Given the description of an element on the screen output the (x, y) to click on. 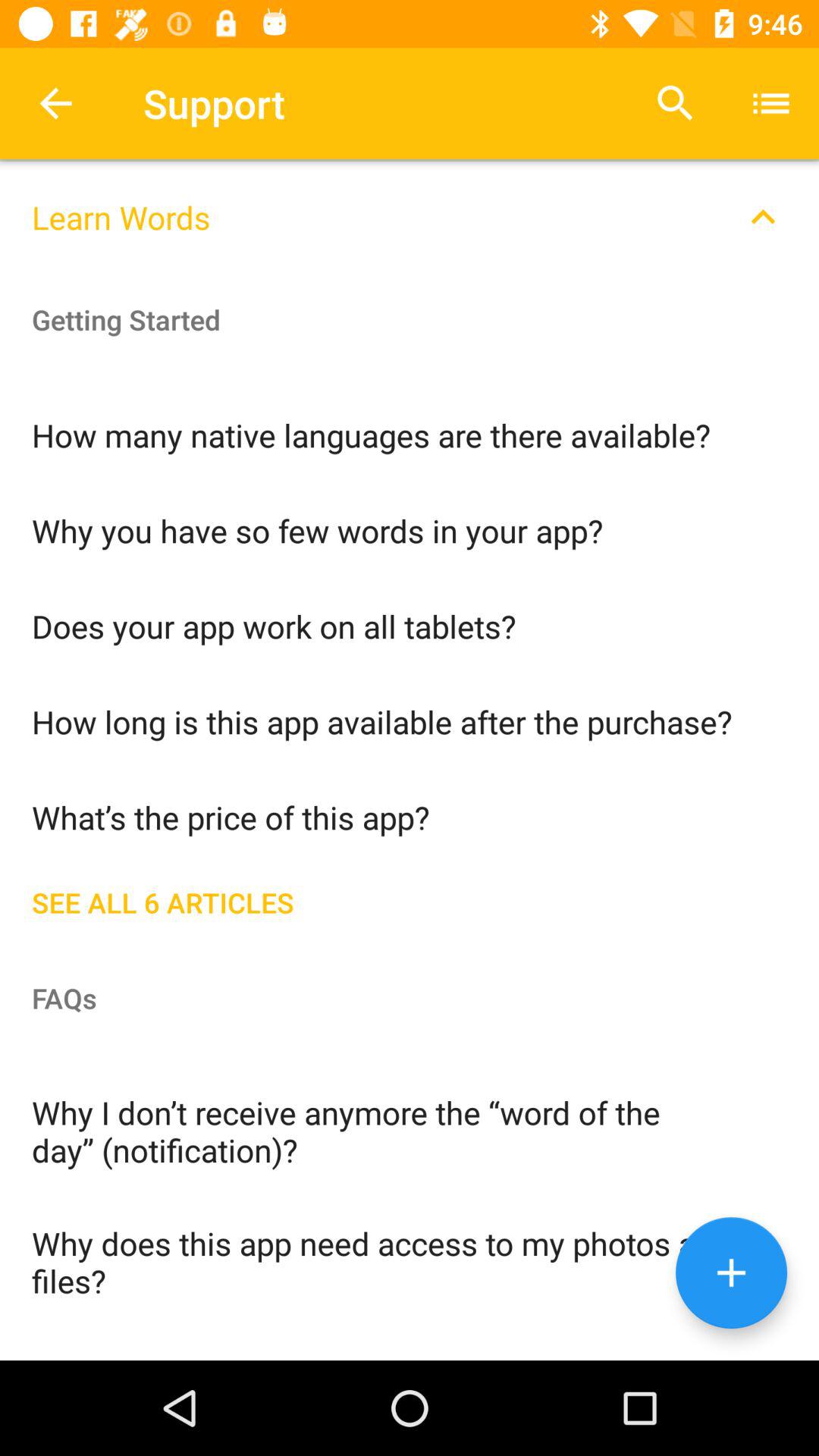
click the icon below the how long is icon (409, 815)
